Given the description of an element on the screen output the (x, y) to click on. 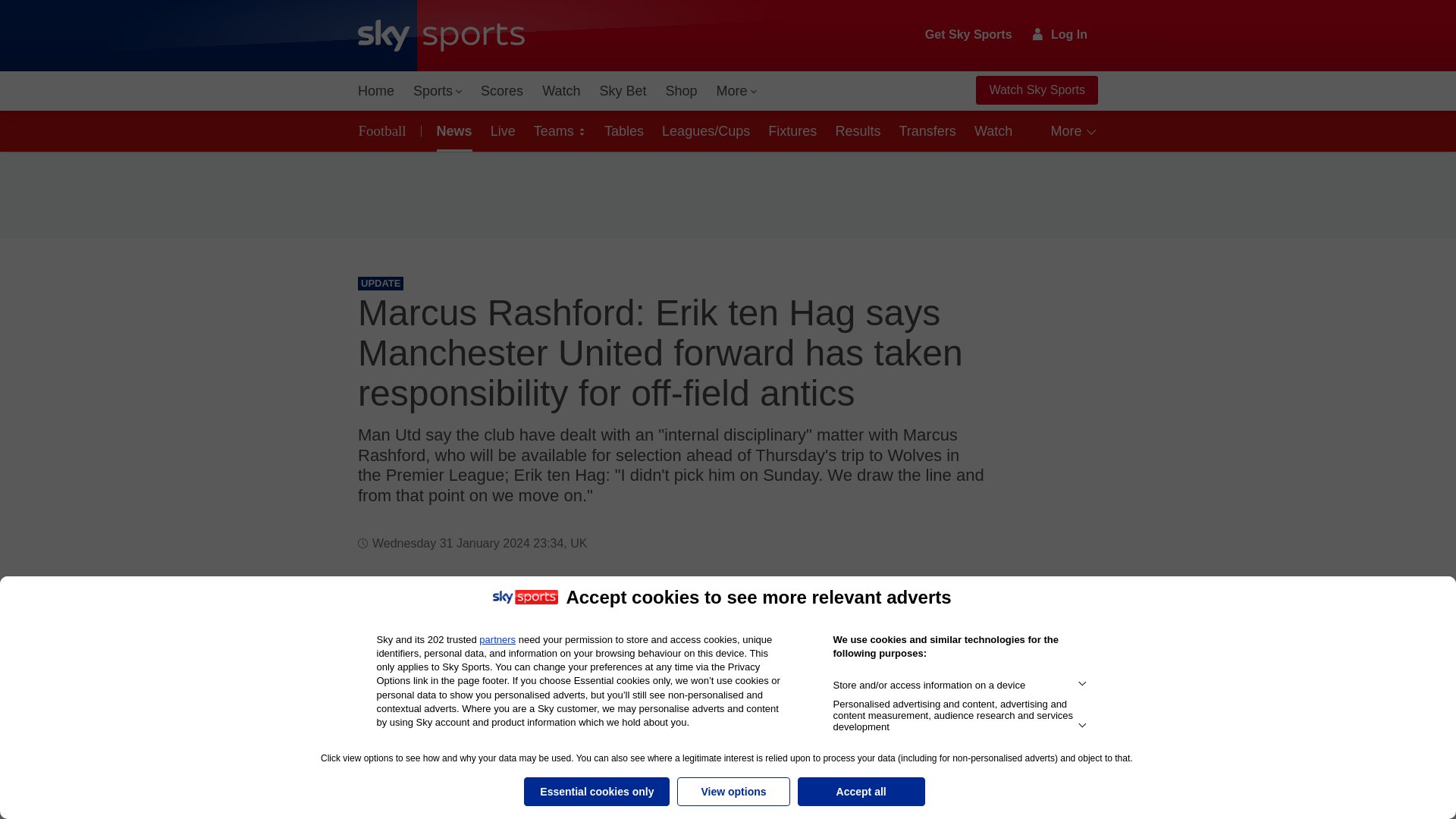
More (736, 91)
Football (385, 130)
News (451, 130)
Watch Sky Sports (1036, 90)
Home (375, 91)
Watch (561, 91)
Shop (681, 91)
Get Sky Sports (968, 34)
Sky Bet (622, 91)
Log In (1060, 33)
